Given the description of an element on the screen output the (x, y) to click on. 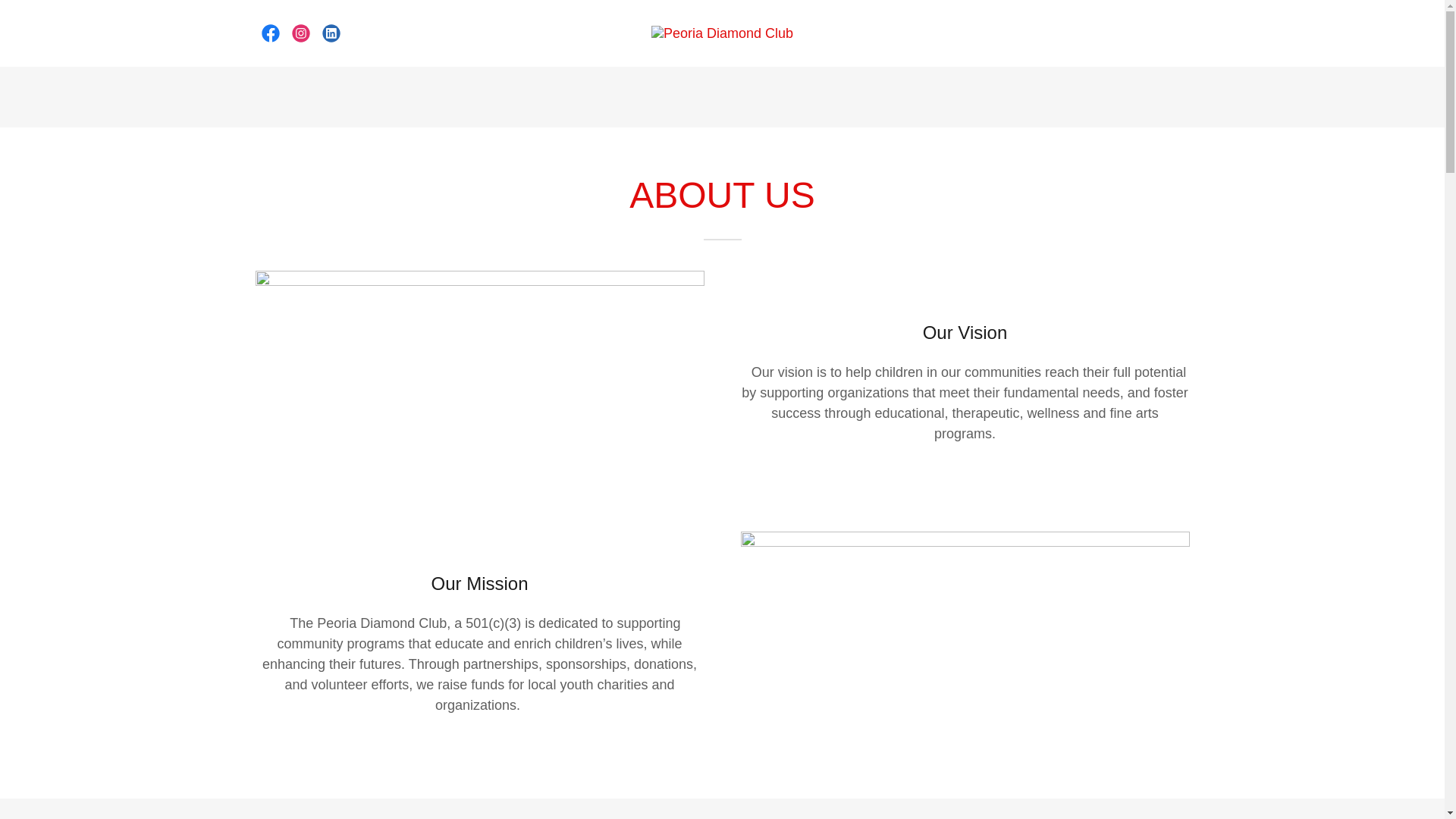
Peoria Diamond Club (721, 32)
